Given the description of an element on the screen output the (x, y) to click on. 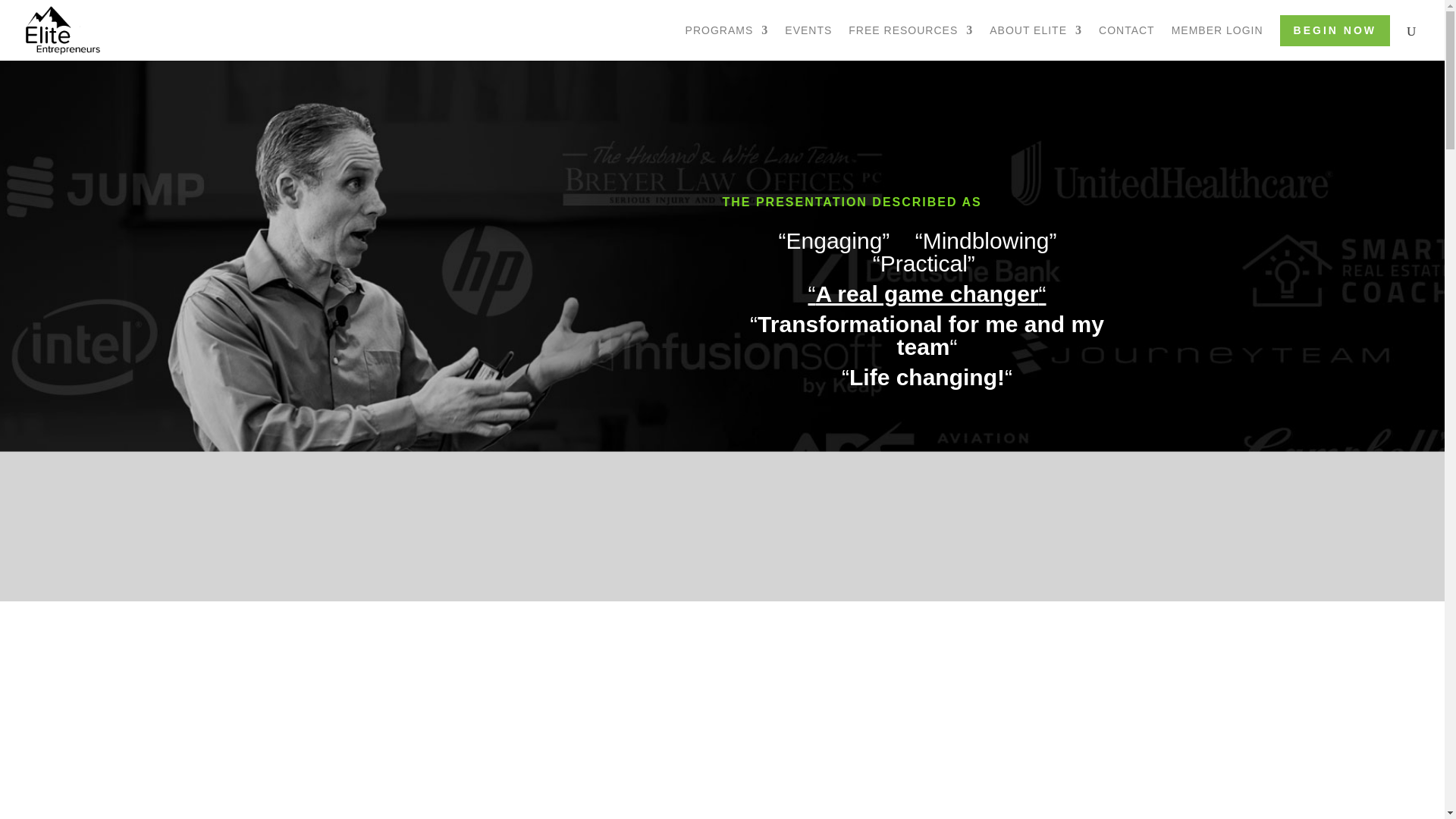
BEGIN NOW (1334, 30)
MEMBER LOGIN (1217, 42)
FREE RESOURCES (910, 42)
ABOUT ELITE (1035, 42)
EVENTS (807, 42)
PROGRAMS (726, 42)
CONTACT (1126, 42)
